Given the description of an element on the screen output the (x, y) to click on. 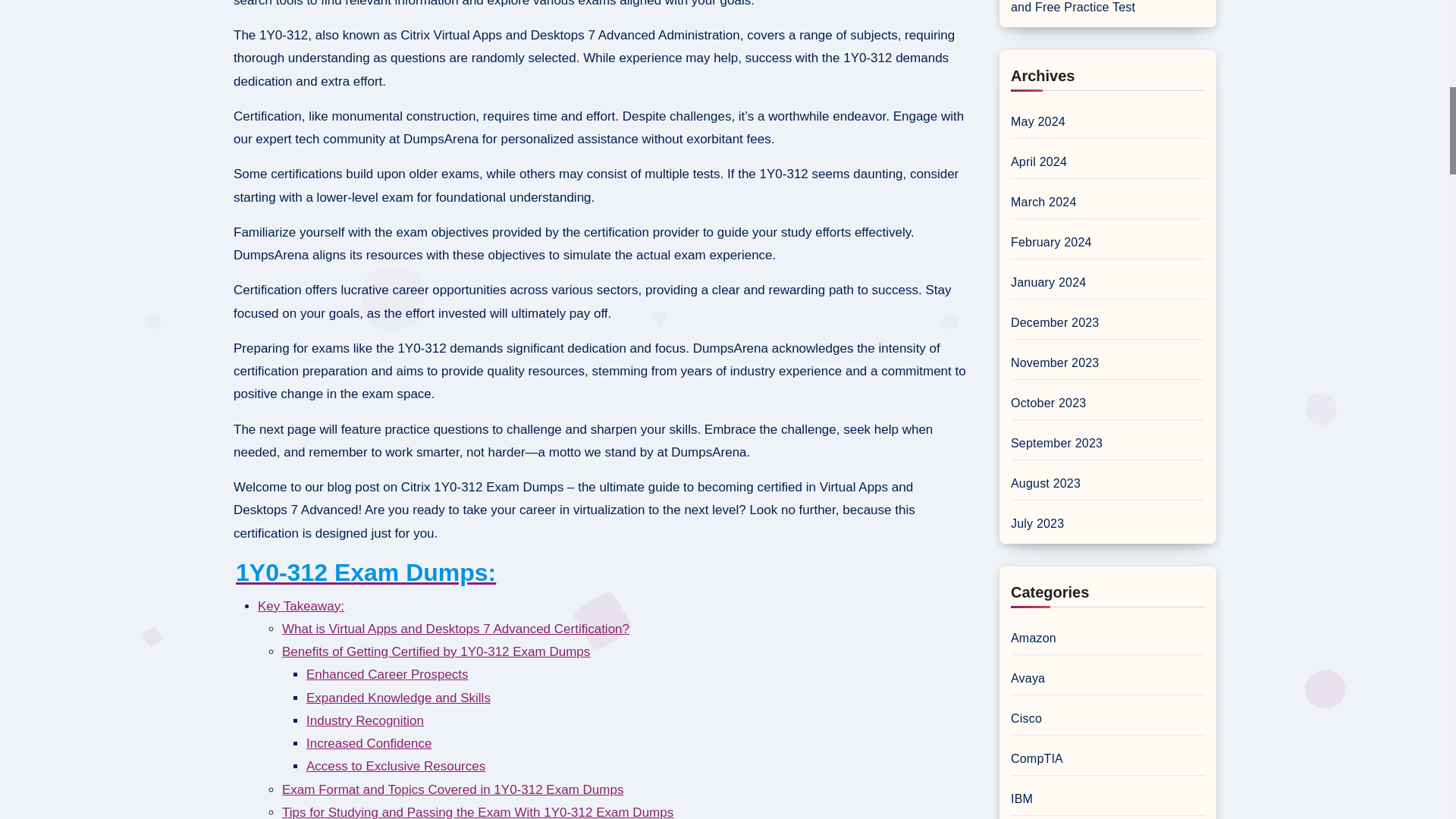
Industry Recognition (364, 720)
Expanded Knowledge and Skills (397, 698)
Enhanced Career Prospects (386, 674)
Exam Format and Topics Covered in 1Y0-312 Exam Dumps (452, 789)
Key Takeaway: (300, 605)
1Y0-312 Exam Dumps: (364, 572)
Increased Confidence (367, 743)
What is Virtual Apps and Desktops 7 Advanced Certification? (455, 628)
Access to Exclusive Resources (394, 766)
